Given the description of an element on the screen output the (x, y) to click on. 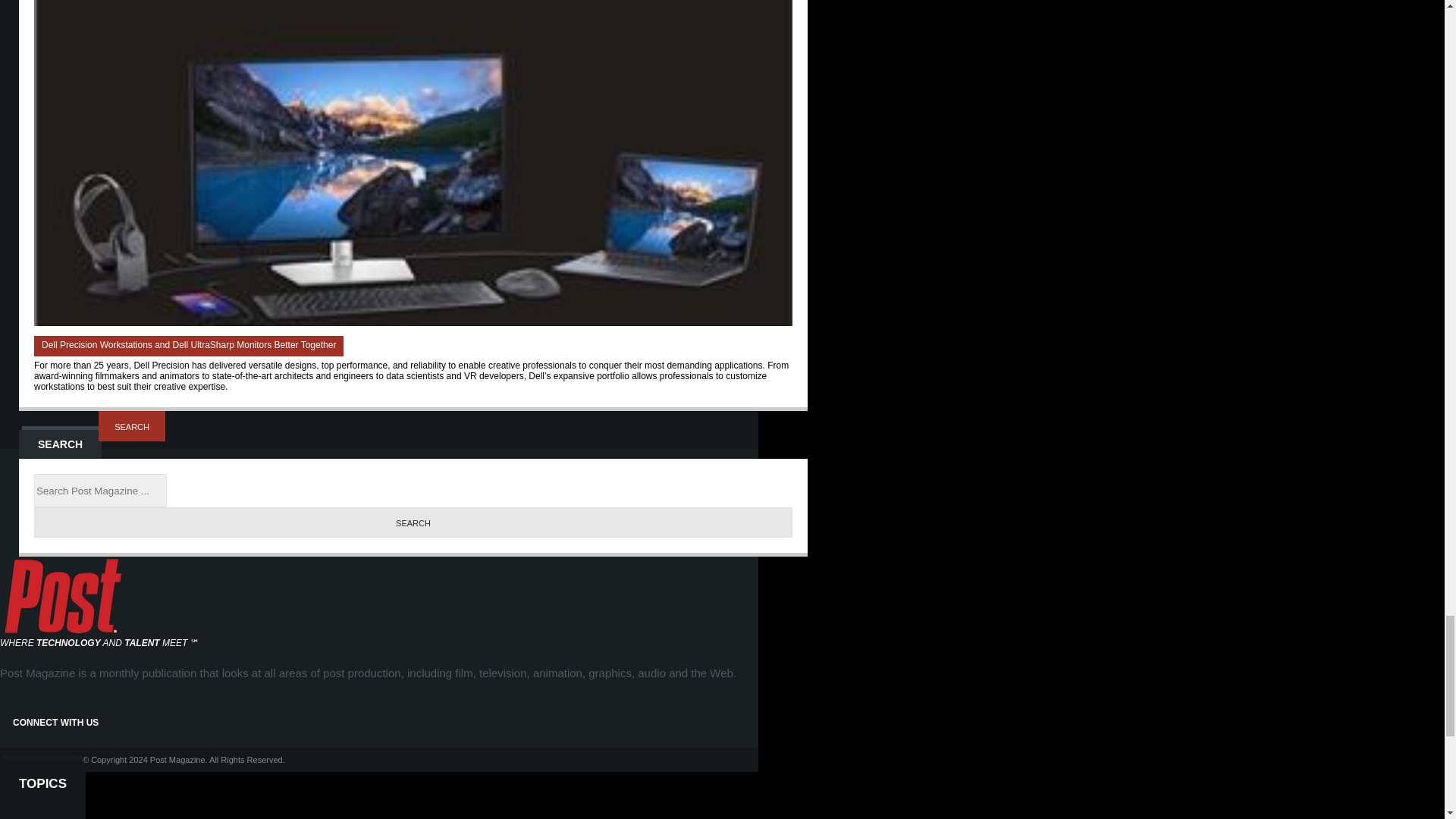
Search (412, 521)
Search (132, 426)
